Given the description of an element on the screen output the (x, y) to click on. 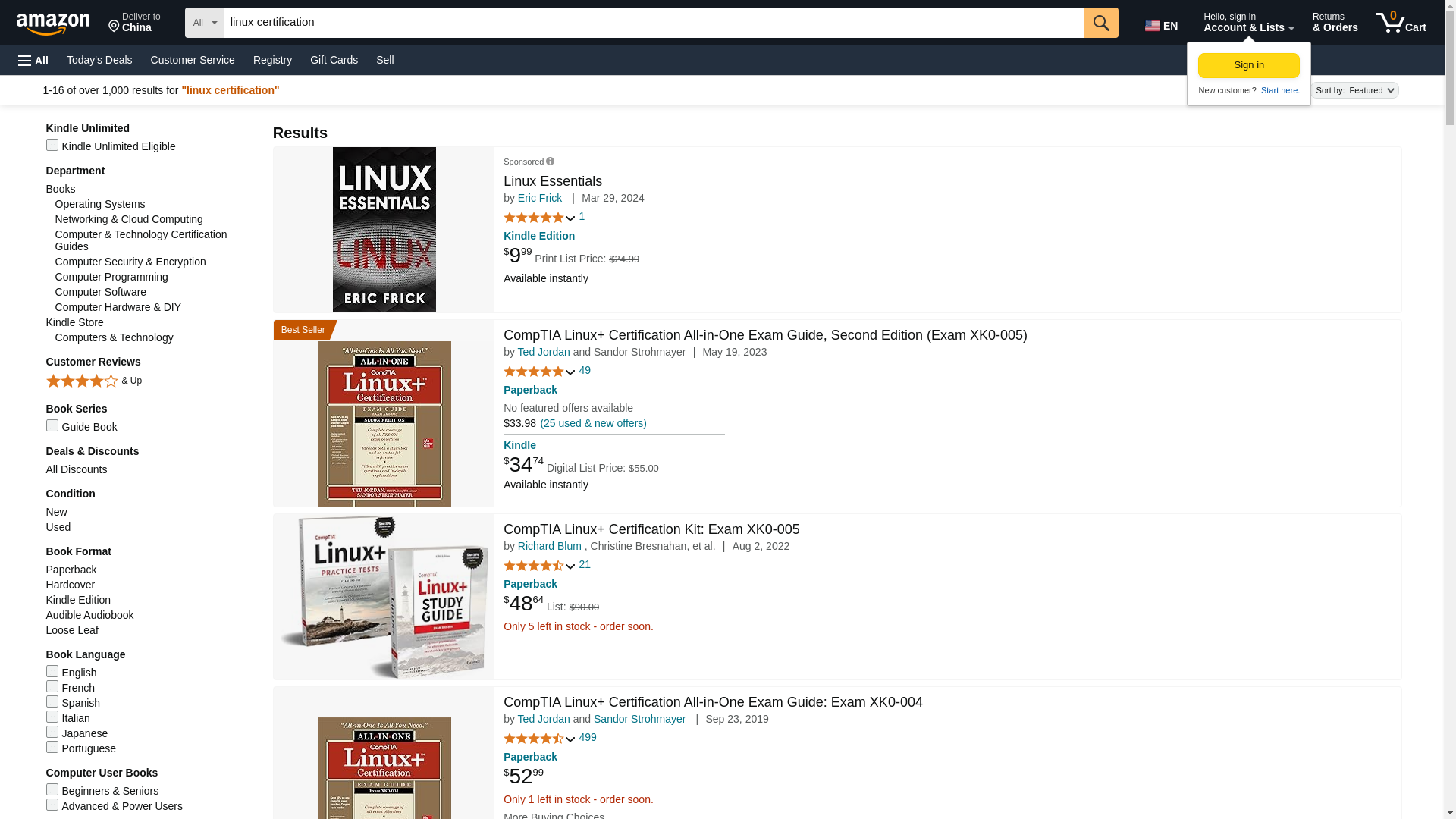
Customer Service (134, 22)
linux certification (192, 59)
Skip to main content (654, 22)
Today's Deals (60, 21)
Sign in (99, 59)
Sell (1249, 65)
Eric Frick (384, 59)
EN (540, 197)
Go (1163, 22)
